Given the description of an element on the screen output the (x, y) to click on. 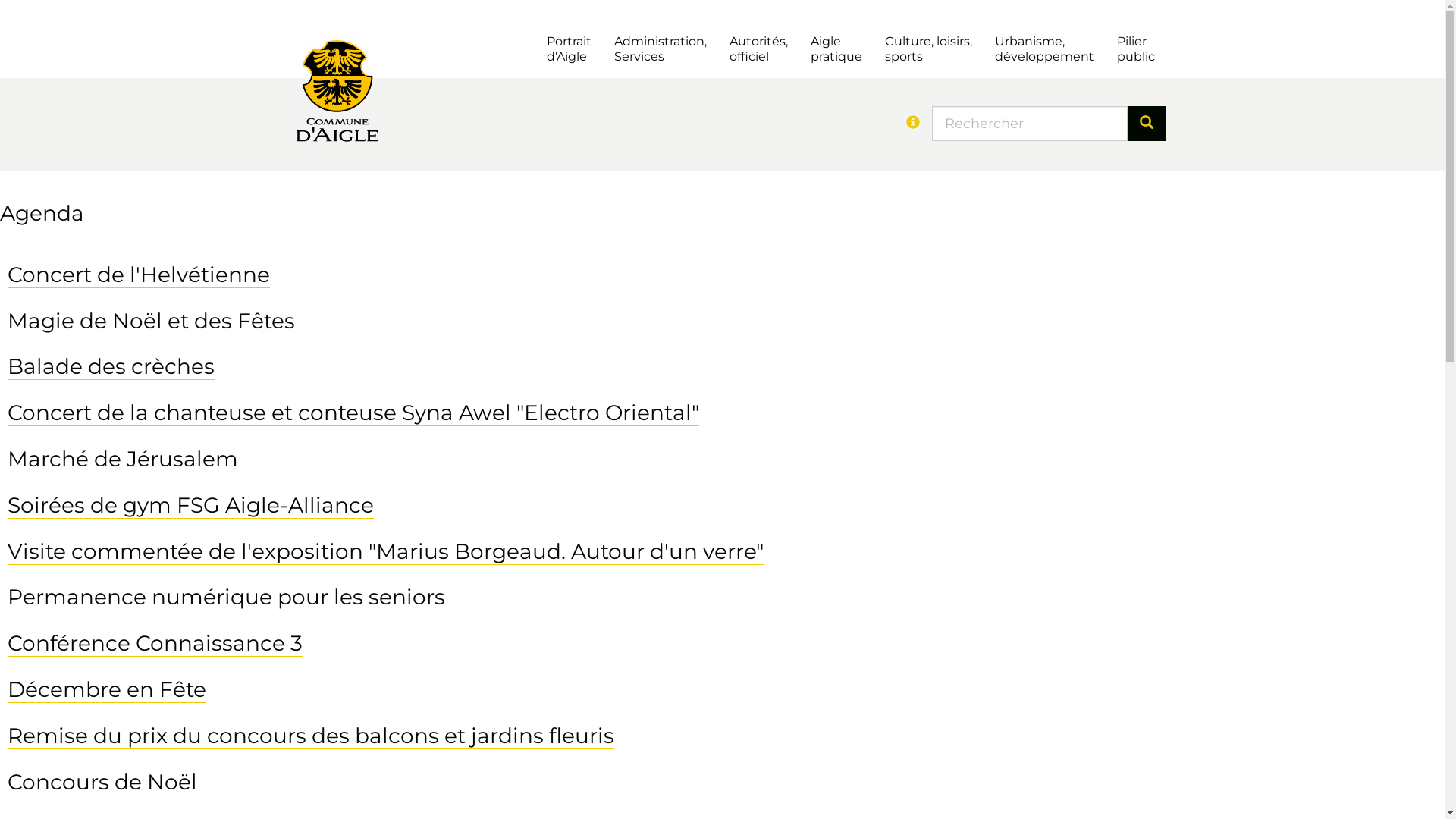
Aigle
pratique Element type: text (835, 49)
Culture, loisirs,
sports Element type: text (927, 49)
Remise du prix du concours des balcons et jardins fleuris Element type: text (310, 735)
Administration,
Services Element type: text (660, 49)
Portrait
d'Aigle Element type: text (568, 49)
Pilier
public Element type: text (1135, 49)
